Given the description of an element on the screen output the (x, y) to click on. 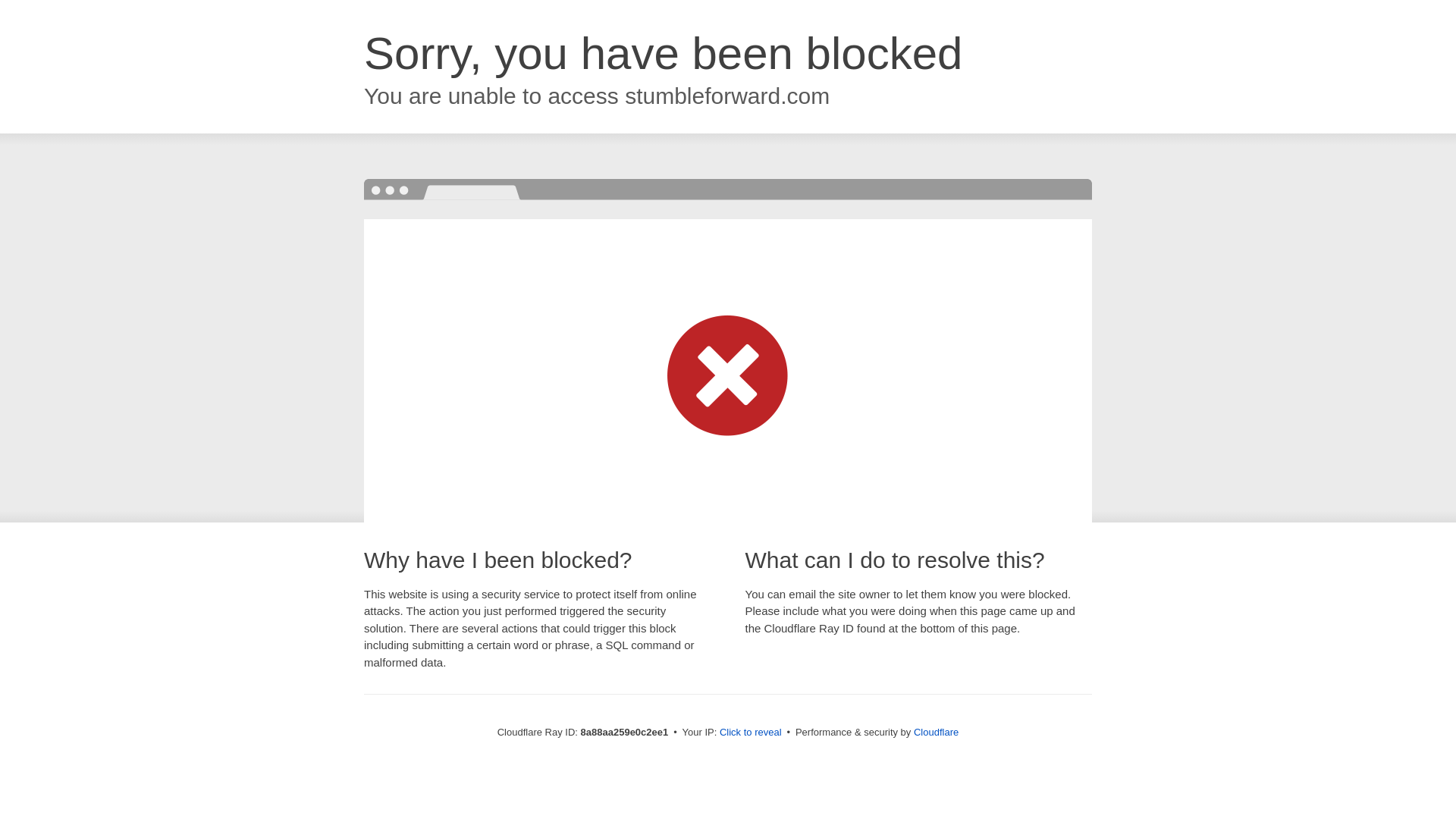
Click to reveal (750, 732)
Cloudflare (936, 731)
